Given the description of an element on the screen output the (x, y) to click on. 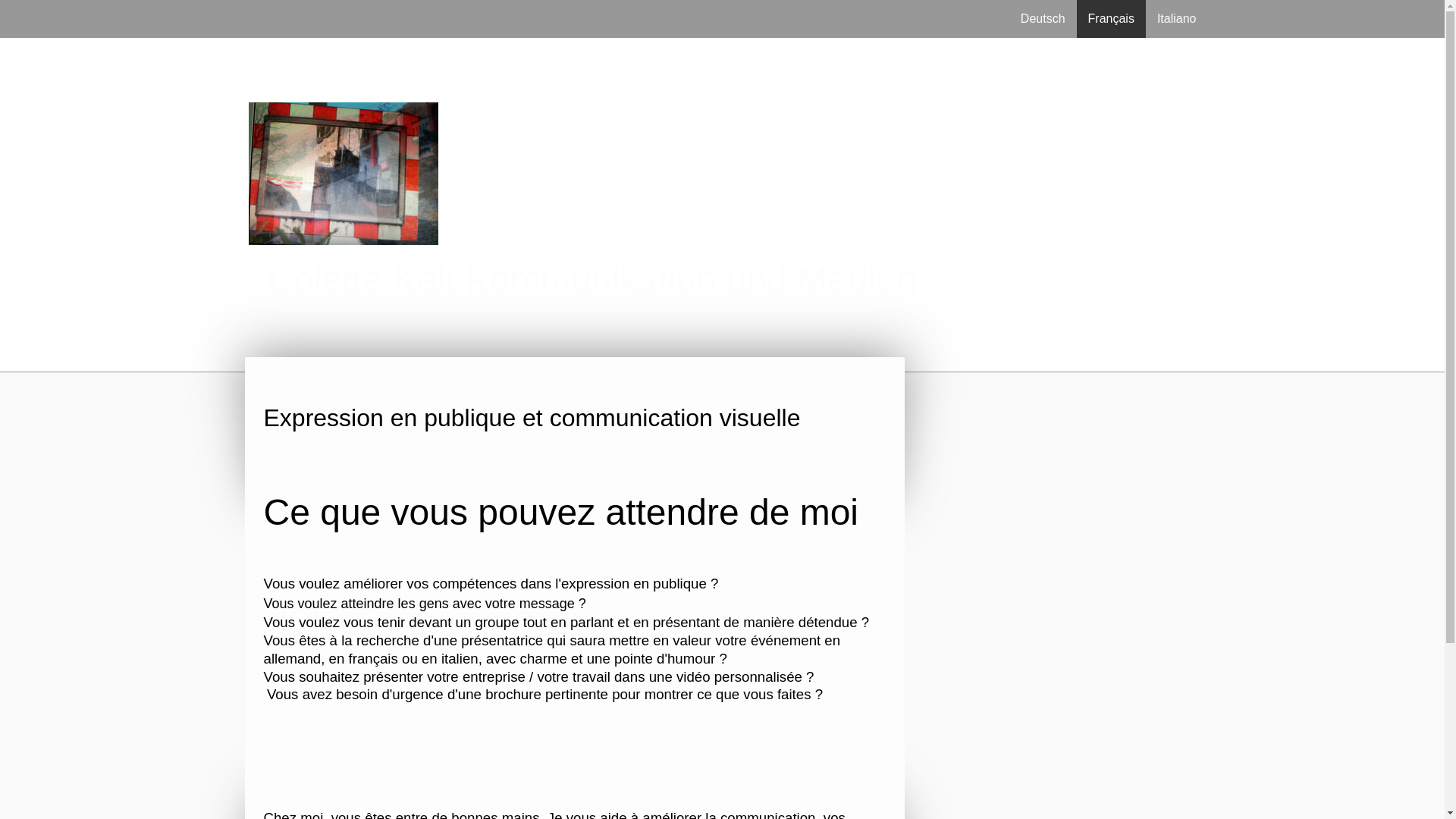
Deutsch Element type: text (1042, 18)
Colette Kalt Kommunikation und Medien Element type: text (726, 279)
Italiano Element type: text (1176, 18)
